Given the description of an element on the screen output the (x, y) to click on. 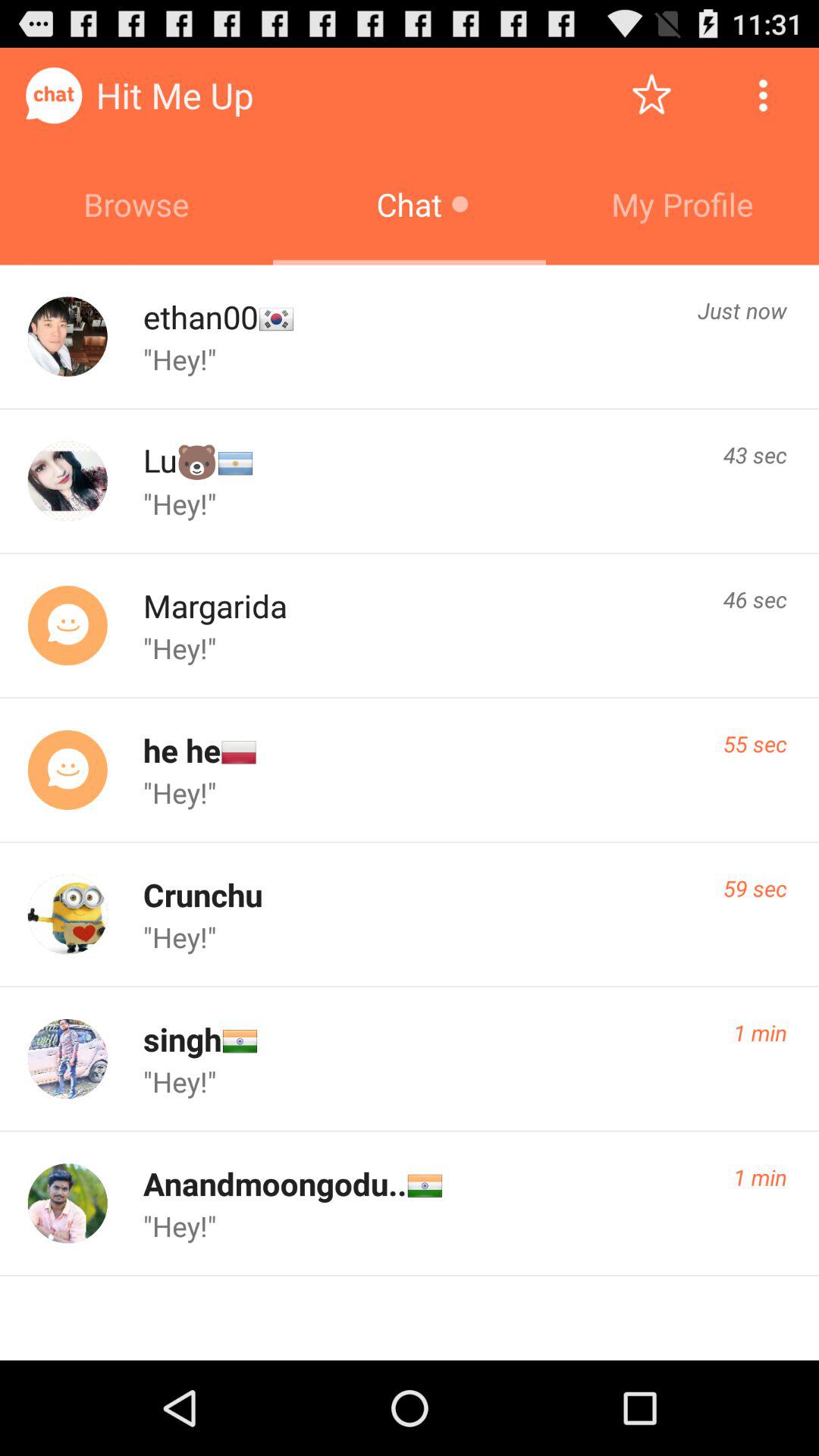
flip to margarida app (215, 605)
